Given the description of an element on the screen output the (x, y) to click on. 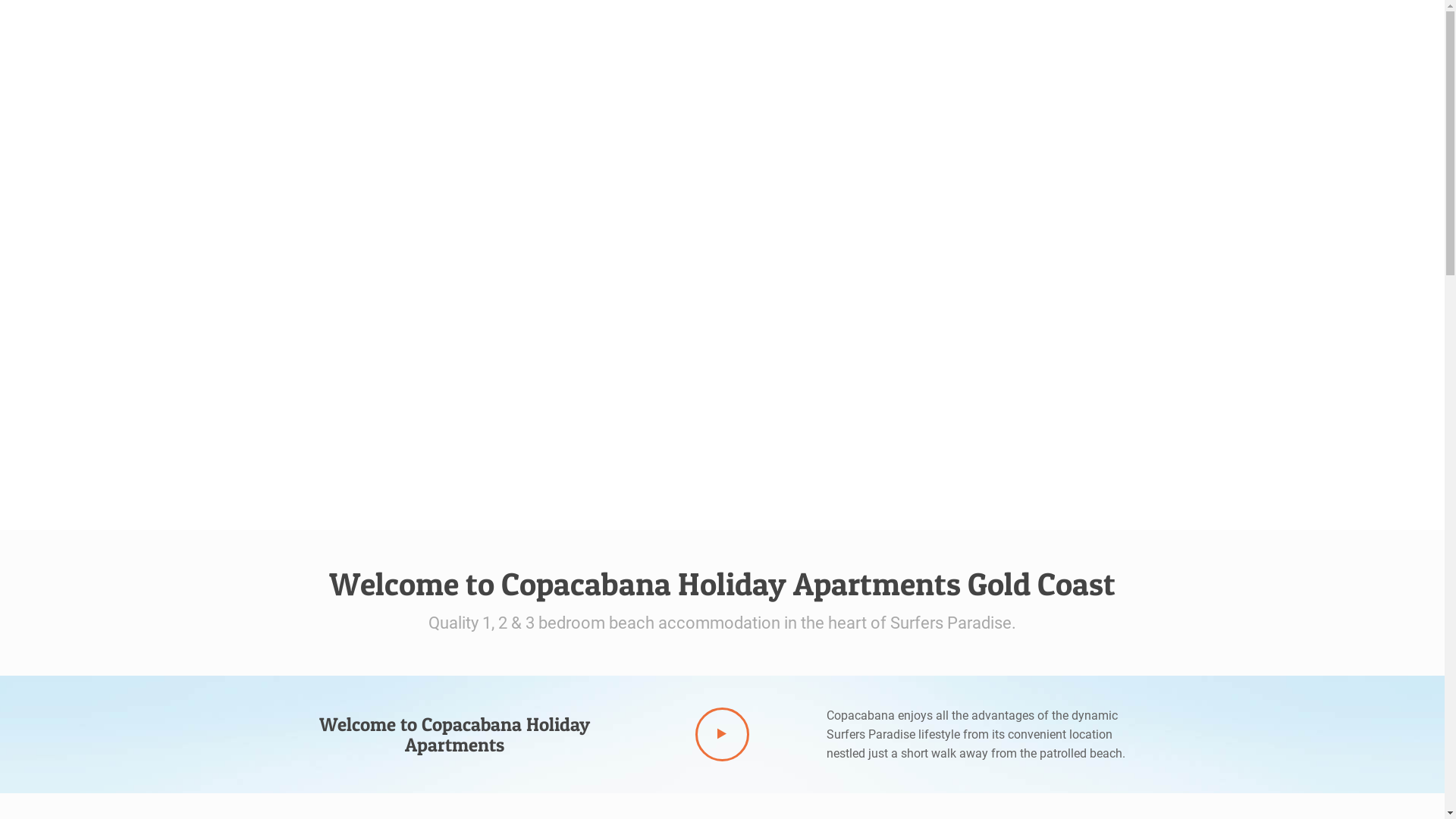
info@copa.com.au Element type: text (1116, 22)
0451553001 Element type: text (1006, 22)
